Given the description of an element on the screen output the (x, y) to click on. 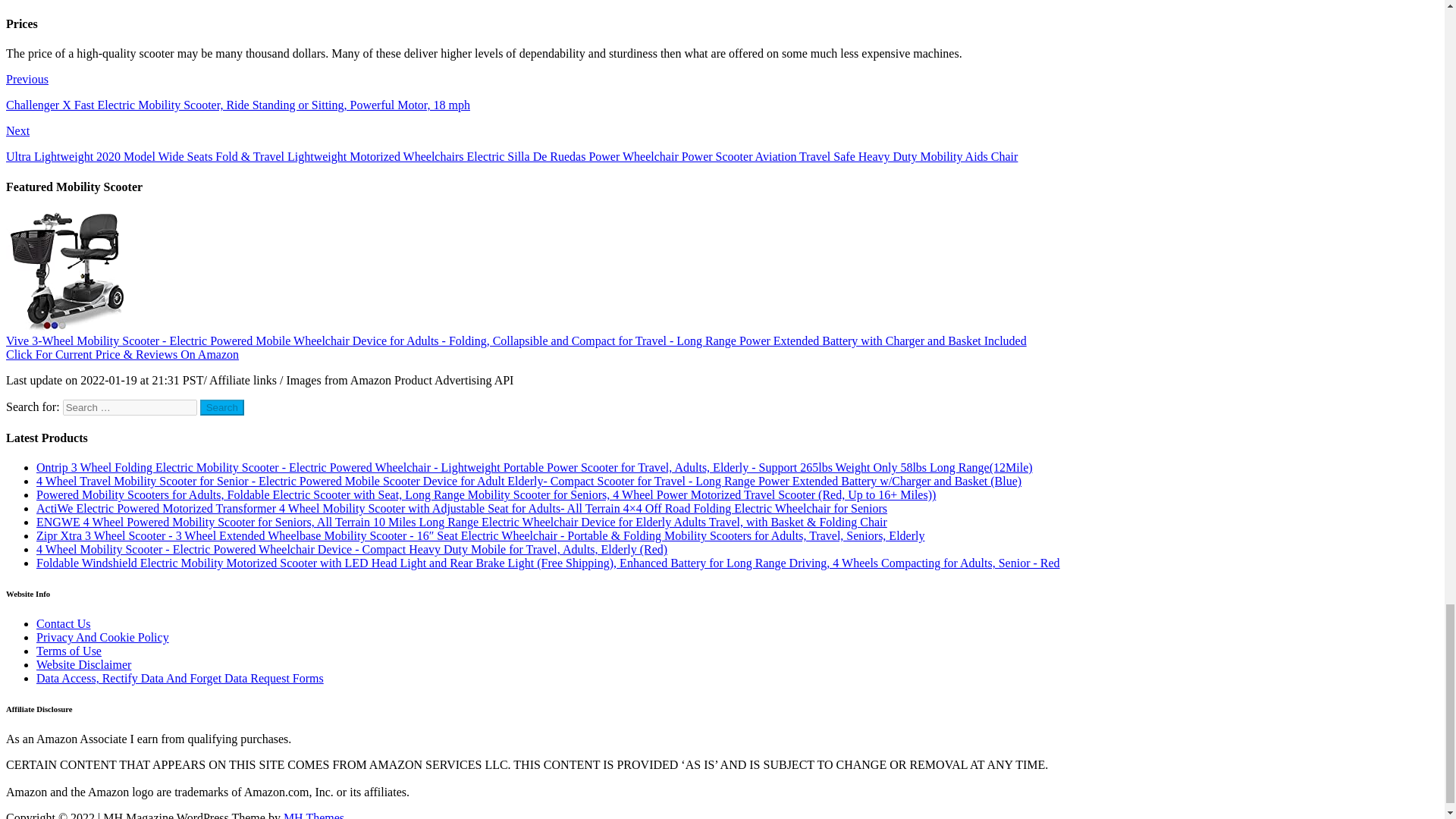
Search (222, 407)
Search (222, 407)
